Given the description of an element on the screen output the (x, y) to click on. 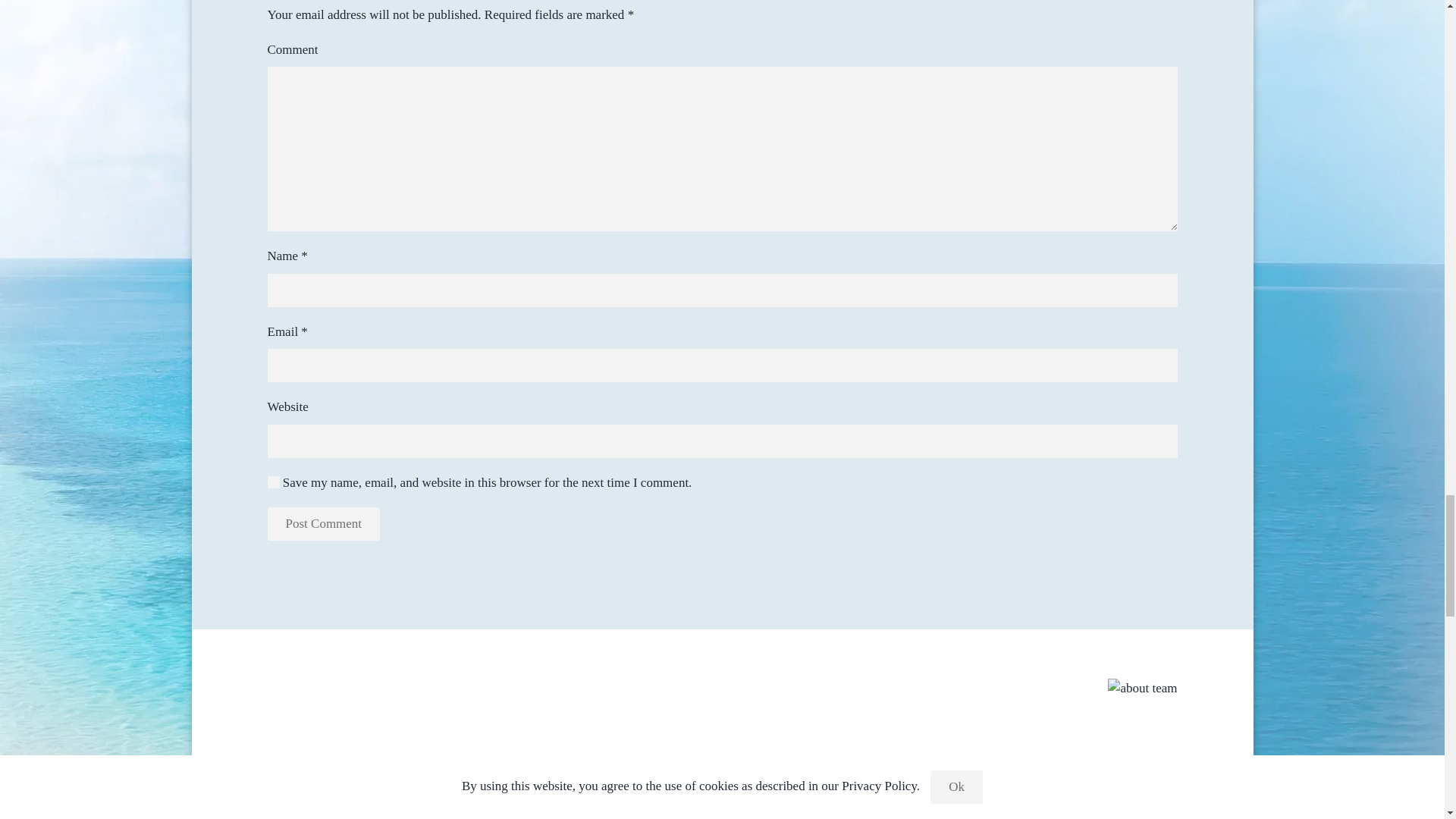
John Eldredge on community living 7 (1142, 688)
yes (272, 481)
